Given the description of an element on the screen output the (x, y) to click on. 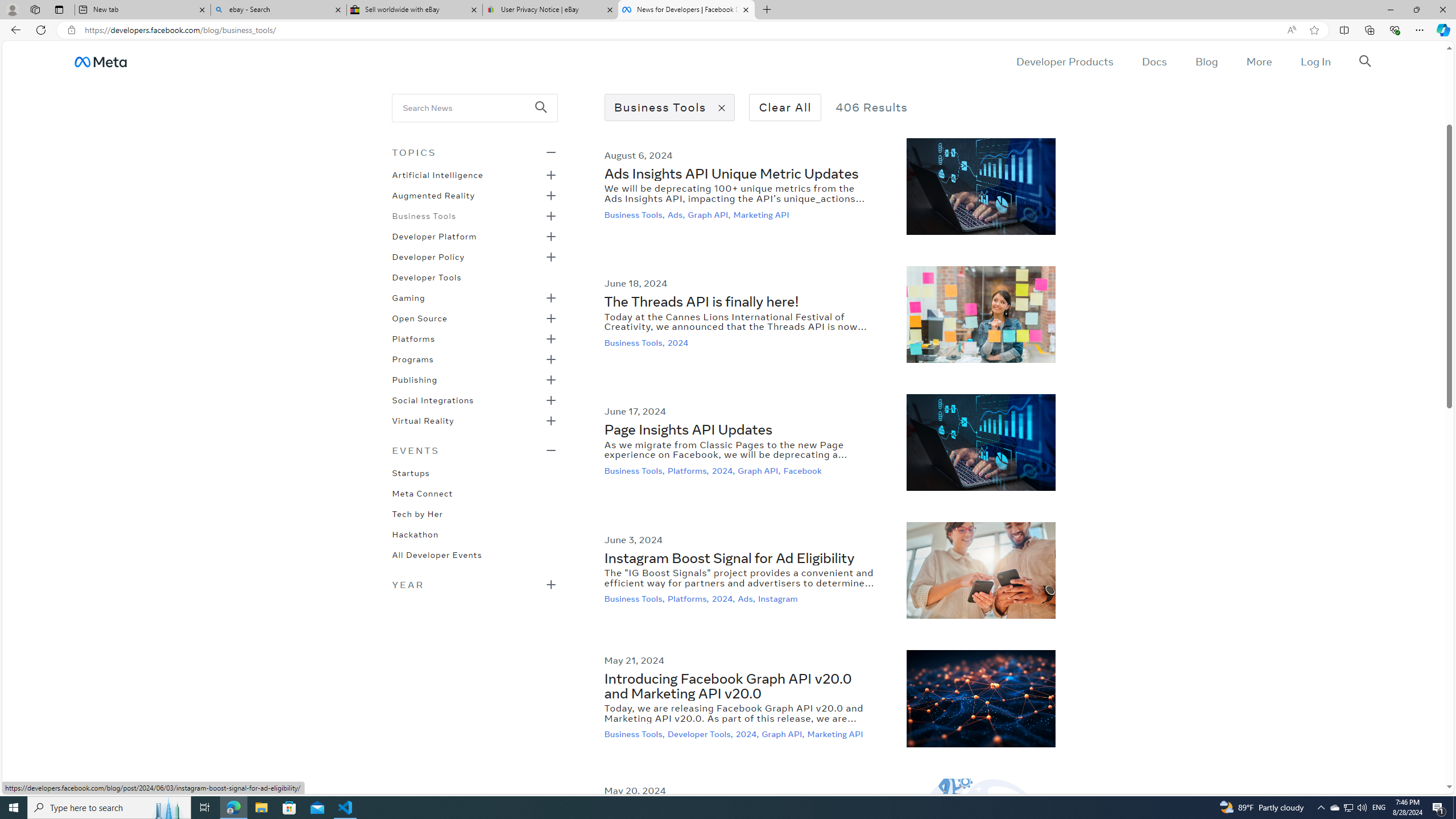
App bar (728, 29)
Collections (1369, 29)
Close tab (746, 9)
All Developer Events (436, 553)
Ads, (748, 598)
Developer Tools, (700, 733)
Read aloud this page (Ctrl+Shift+U) (1291, 29)
More (1259, 61)
Browser essentials (1394, 29)
Class: _98ex (474, 557)
Log In (1315, 61)
Developer Tools (426, 276)
Facebook (803, 470)
Back (13, 29)
